Given the description of an element on the screen output the (x, y) to click on. 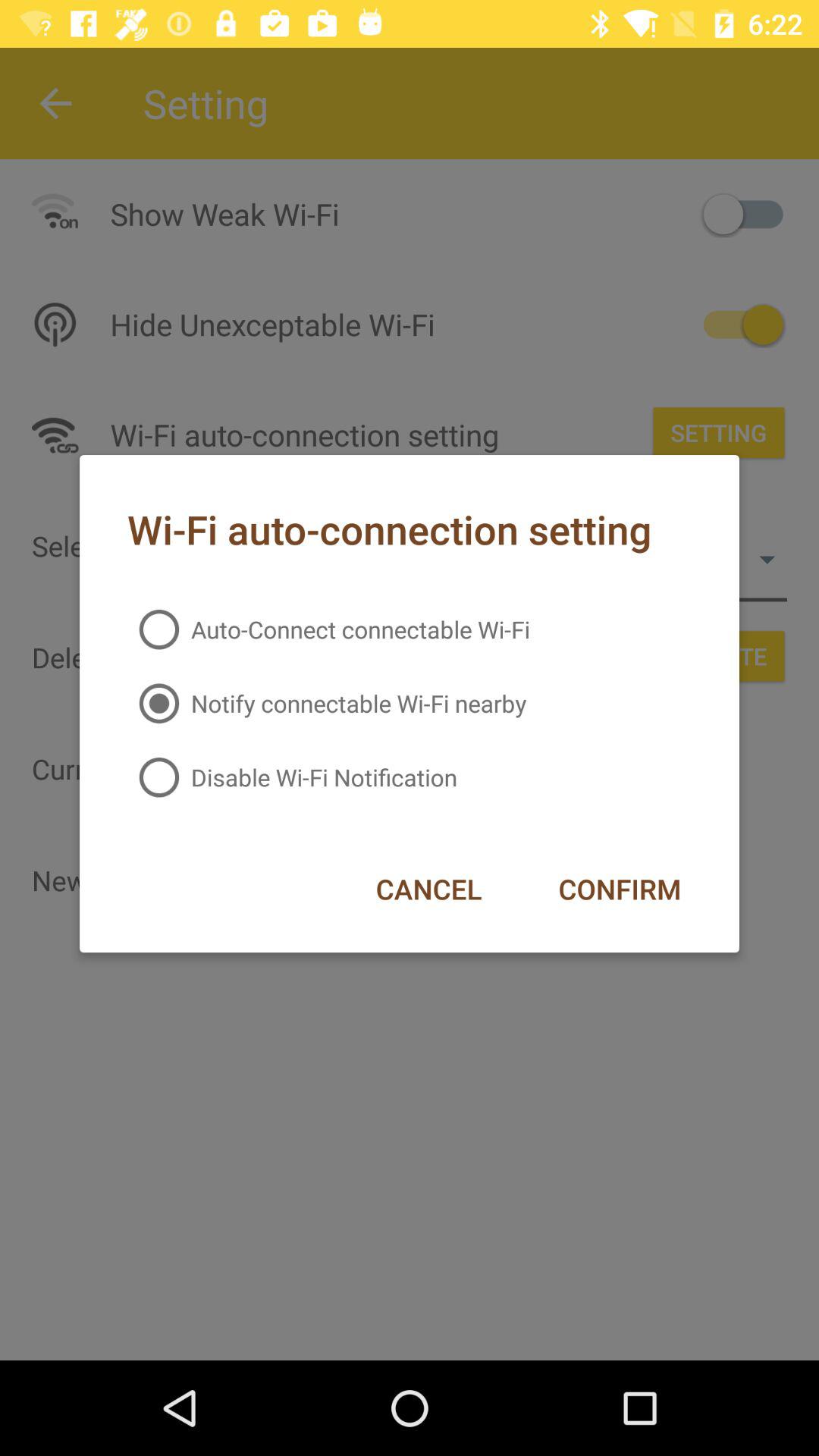
turn off item below notify connectable wi icon (619, 888)
